Given the description of an element on the screen output the (x, y) to click on. 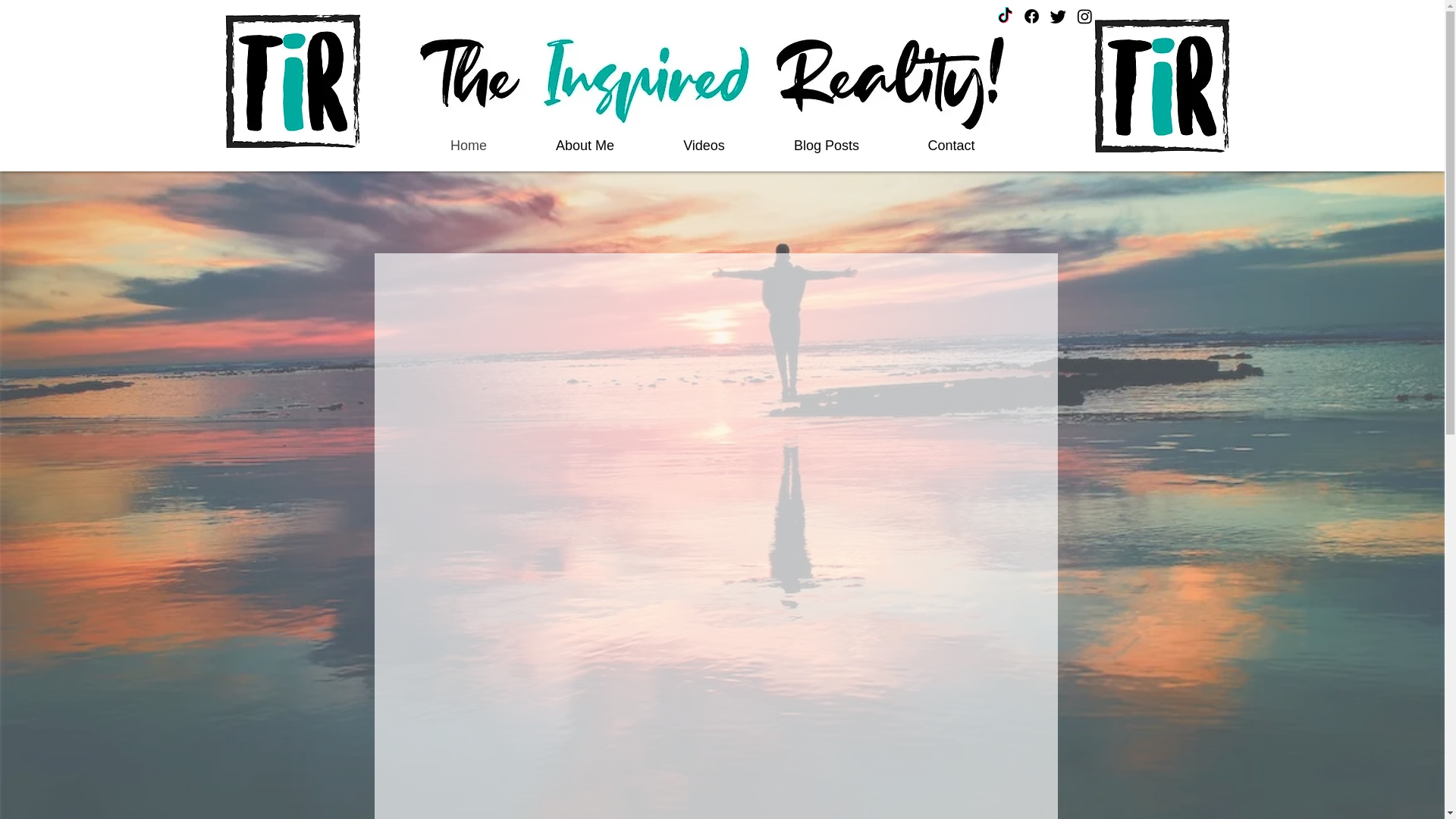
Blog Posts (826, 145)
TIR-logo1.jpg (1160, 85)
About Me (585, 145)
Videos (704, 145)
Contact (951, 145)
Home (467, 145)
TIR-logo1.jpg (291, 81)
